Given the description of an element on the screen output the (x, y) to click on. 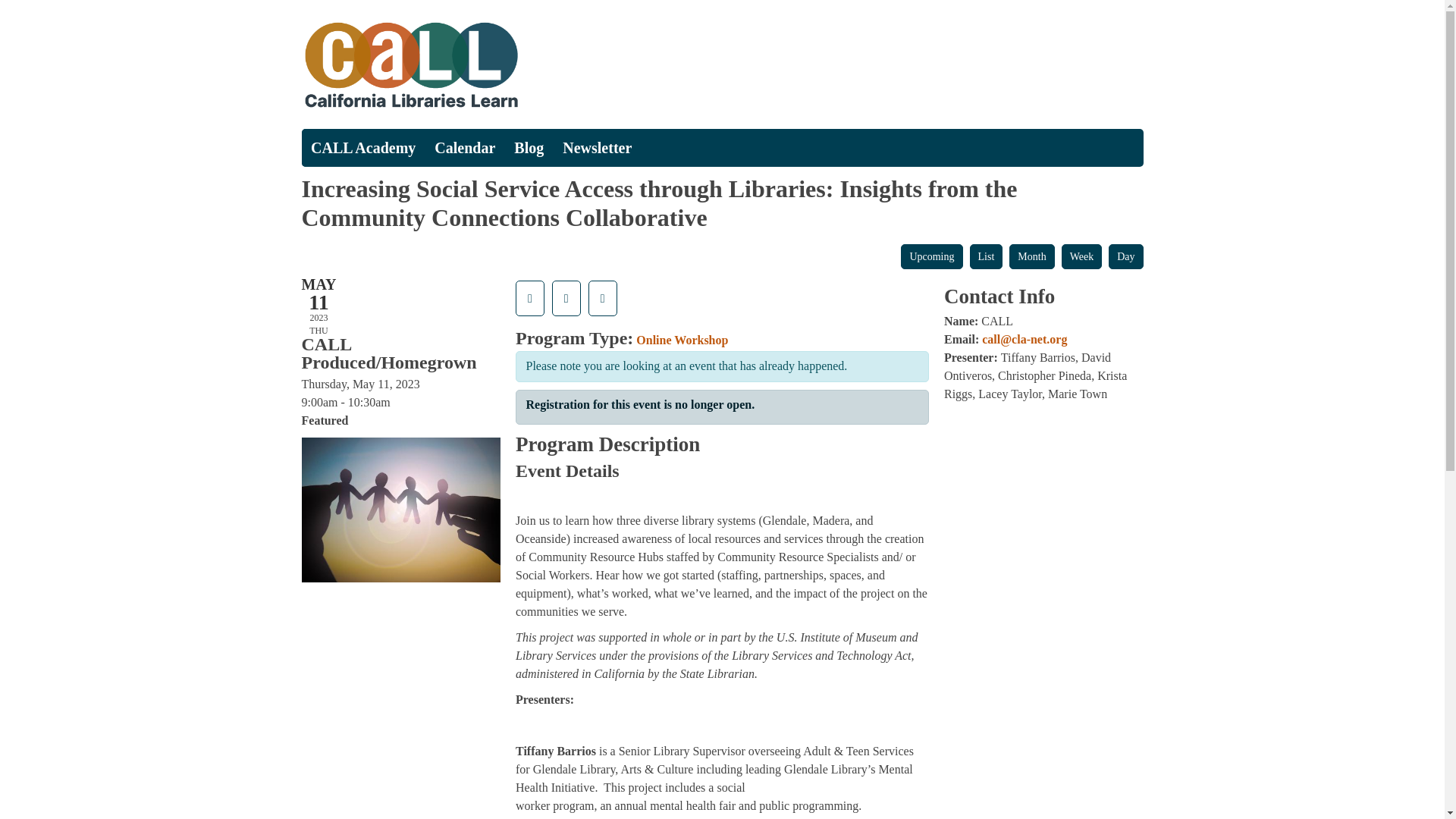
Online Workshop (682, 339)
Calendar (465, 147)
List (986, 256)
Blog (529, 147)
Week (1081, 256)
Month (1031, 256)
CALL Academy (363, 147)
Upcoming (931, 256)
Day (1125, 256)
Newsletter (597, 147)
Home (506, 64)
